Given the description of an element on the screen output the (x, y) to click on. 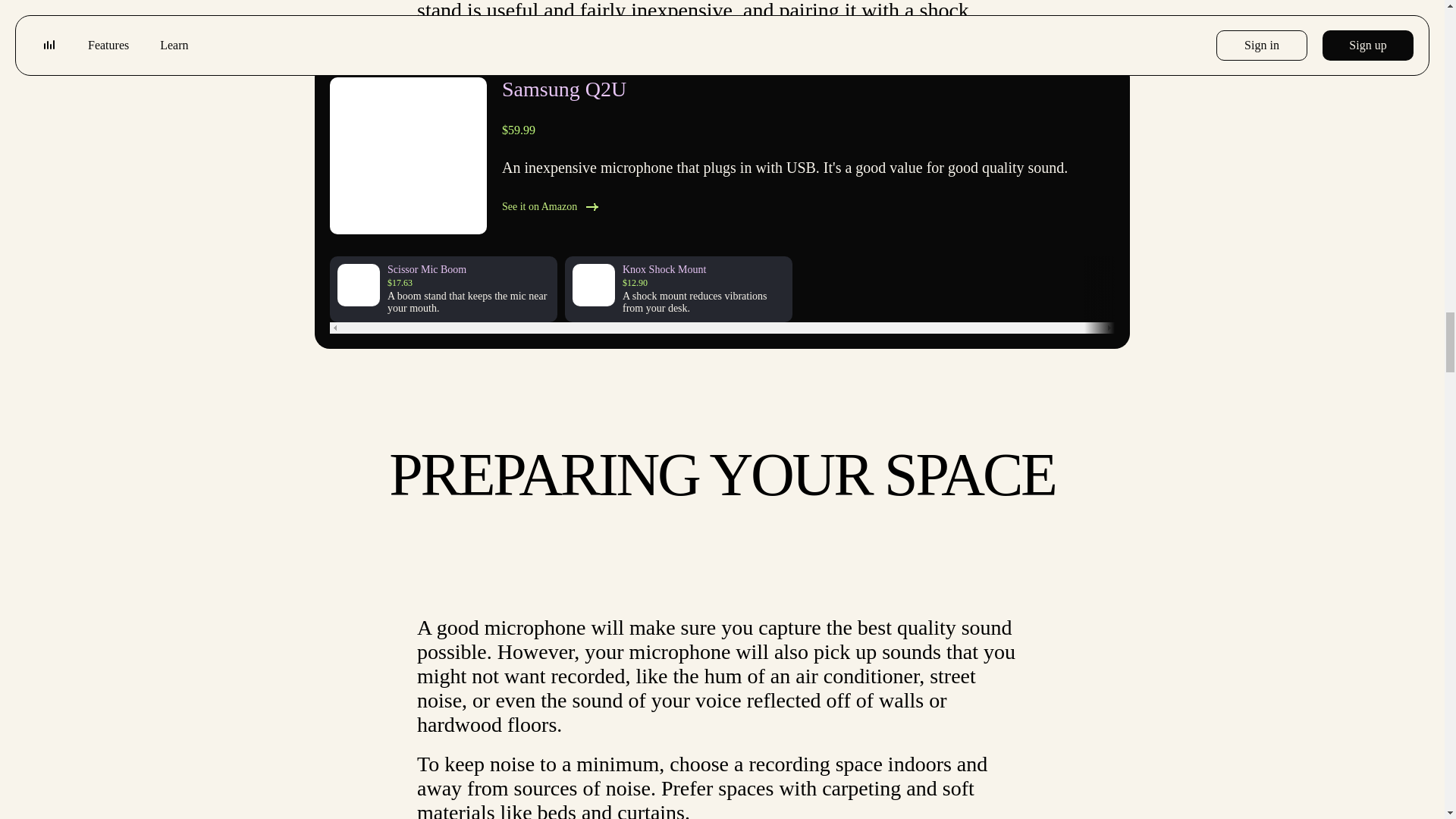
See it on Amazon (808, 207)
